Given the description of an element on the screen output the (x, y) to click on. 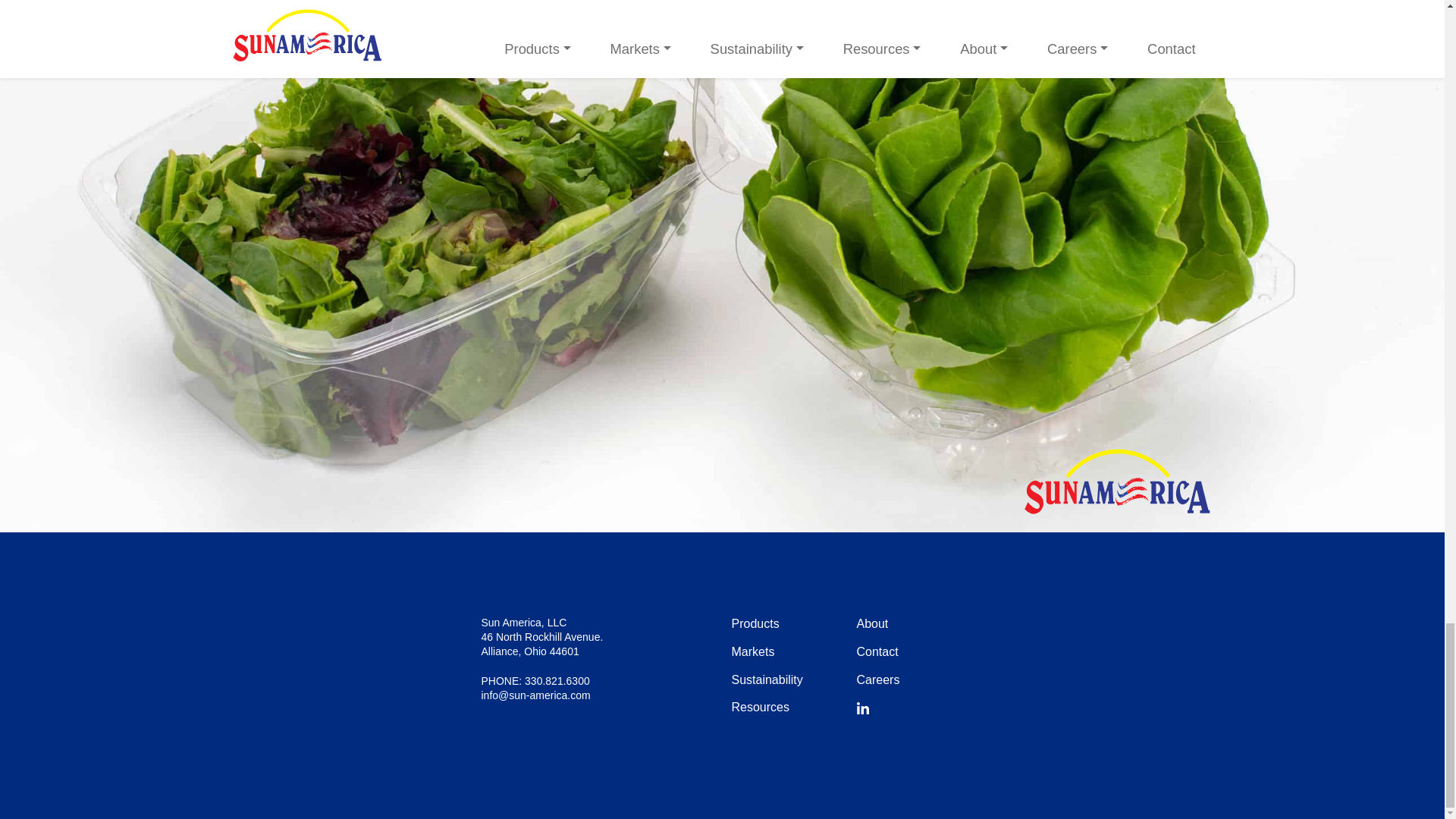
Sustainability (766, 679)
Markets (752, 651)
330.821.6300 (556, 680)
About (872, 623)
Resources (759, 707)
Contact (877, 651)
Products (754, 623)
